Given the description of an element on the screen output the (x, y) to click on. 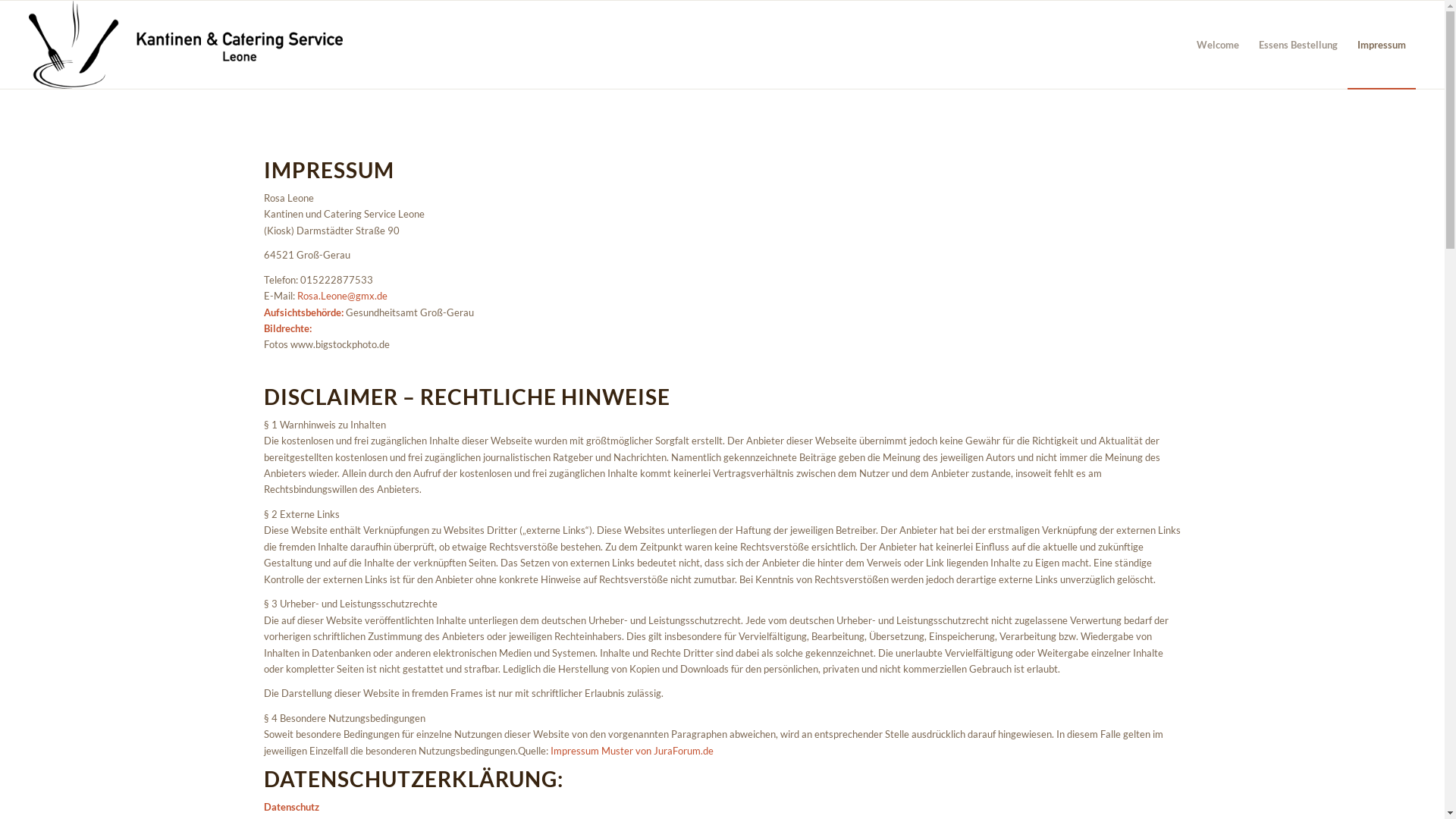
Rosa.Leone@gmx.de Element type: text (342, 295)
Impressum Muster von JuraForum.de Element type: text (631, 750)
Welcome Element type: text (1217, 44)
LogoRosiNeu2018 Element type: hover (185, 44)
Essens Bestellung Element type: text (1297, 44)
Impressum Element type: text (1381, 44)
